Given the description of an element on the screen output the (x, y) to click on. 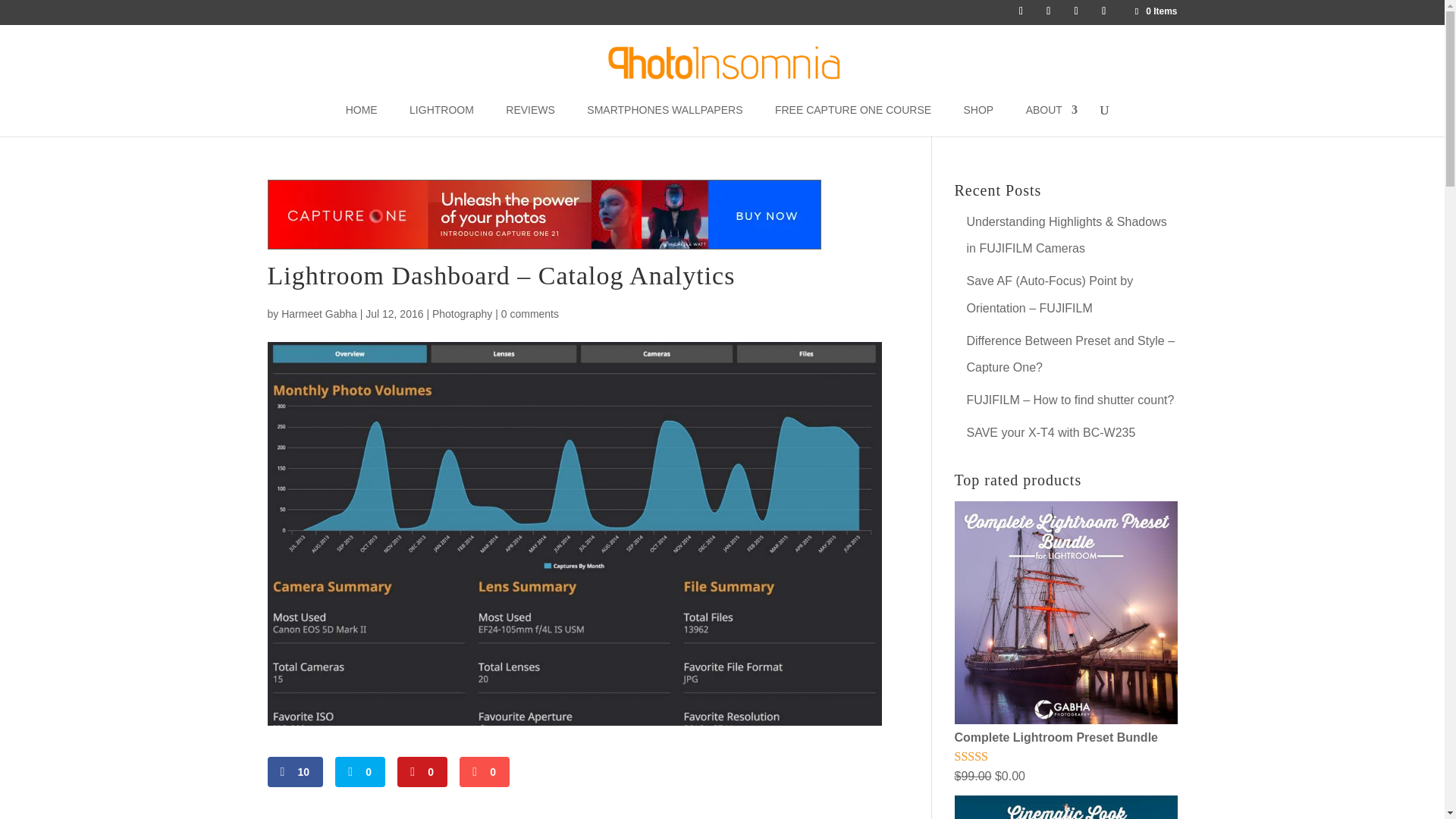
LIGHTROOM (441, 120)
0 (359, 771)
Harmeet Gabha (318, 313)
REVIEWS (529, 120)
SHOP (978, 120)
FREE CAPTURE ONE COURSE (852, 120)
0 (484, 771)
SMARTPHONES WALLPAPERS (664, 120)
HOME (361, 120)
Posts by Harmeet Gabha (318, 313)
